Given the description of an element on the screen output the (x, y) to click on. 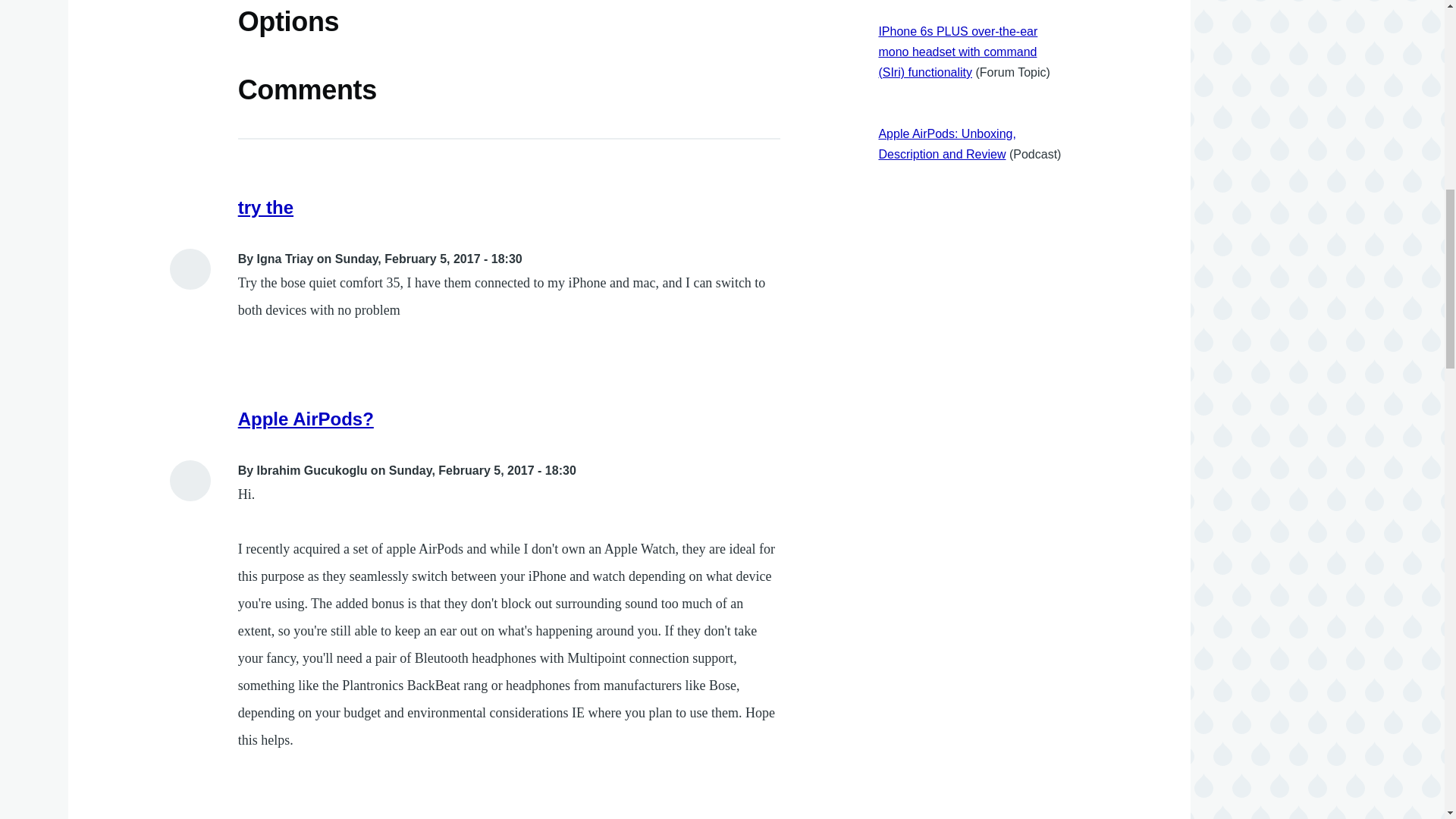
Apple AirPods? (306, 418)
try the (266, 207)
Apple AirPods: Unboxing, Description and Review (945, 143)
